Given the description of an element on the screen output the (x, y) to click on. 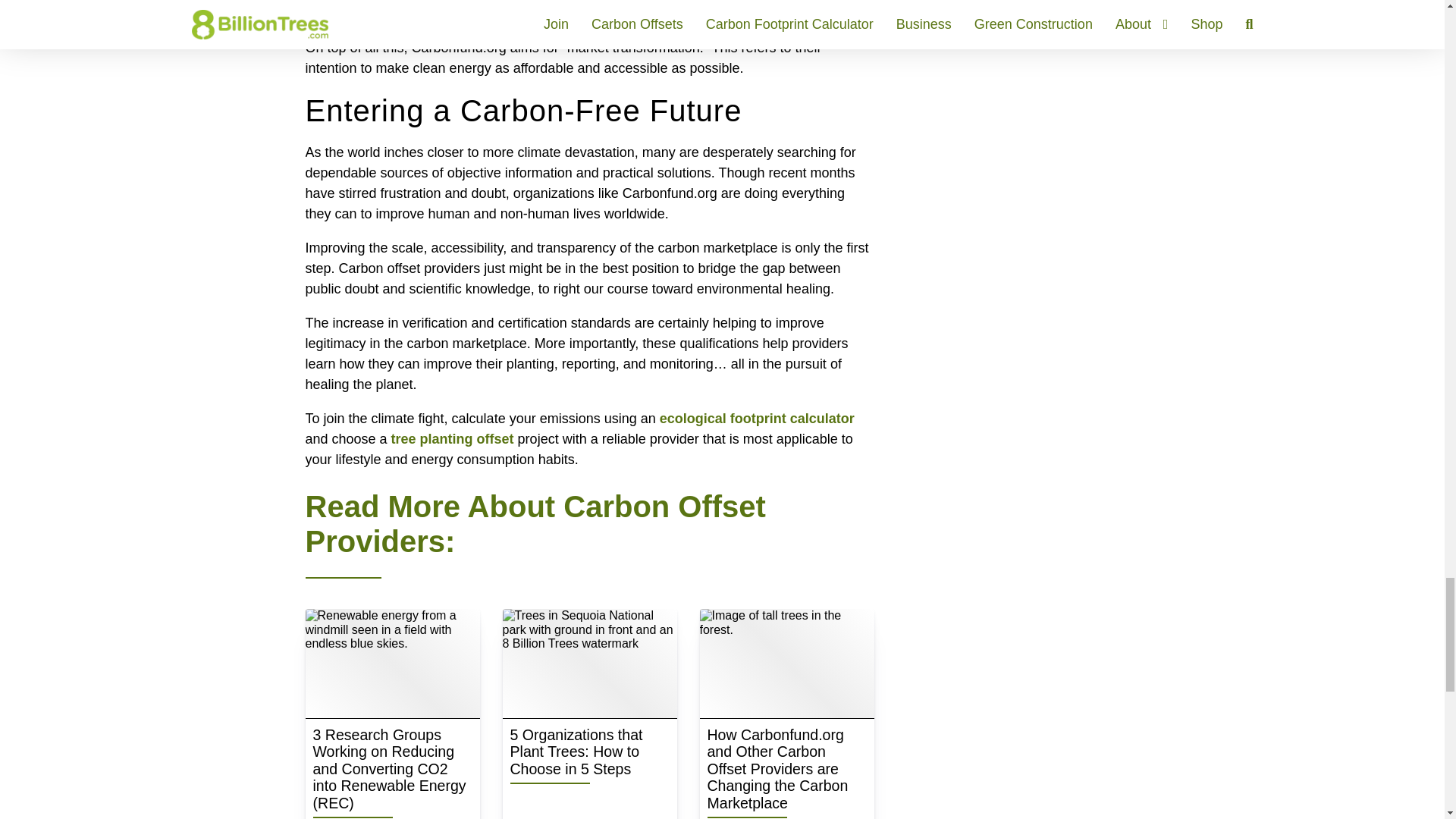
tree planting offset (452, 438)
ecological footprint calculator (756, 418)
